Given the description of an element on the screen output the (x, y) to click on. 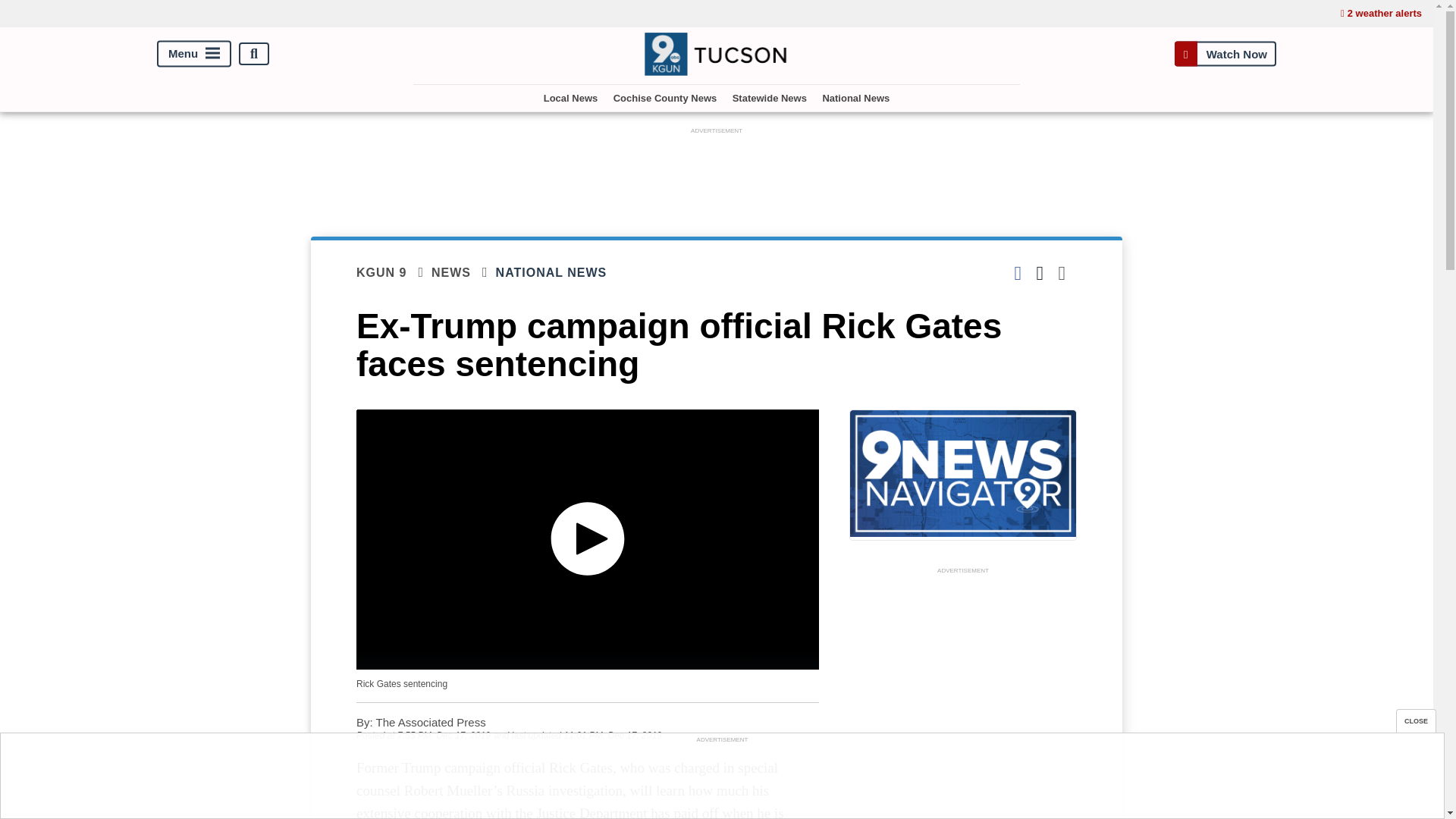
3rd party ad content (716, 172)
3rd party ad content (962, 698)
Watch Now (1224, 53)
Menu (194, 53)
3rd party ad content (721, 780)
